Given the description of an element on the screen output the (x, y) to click on. 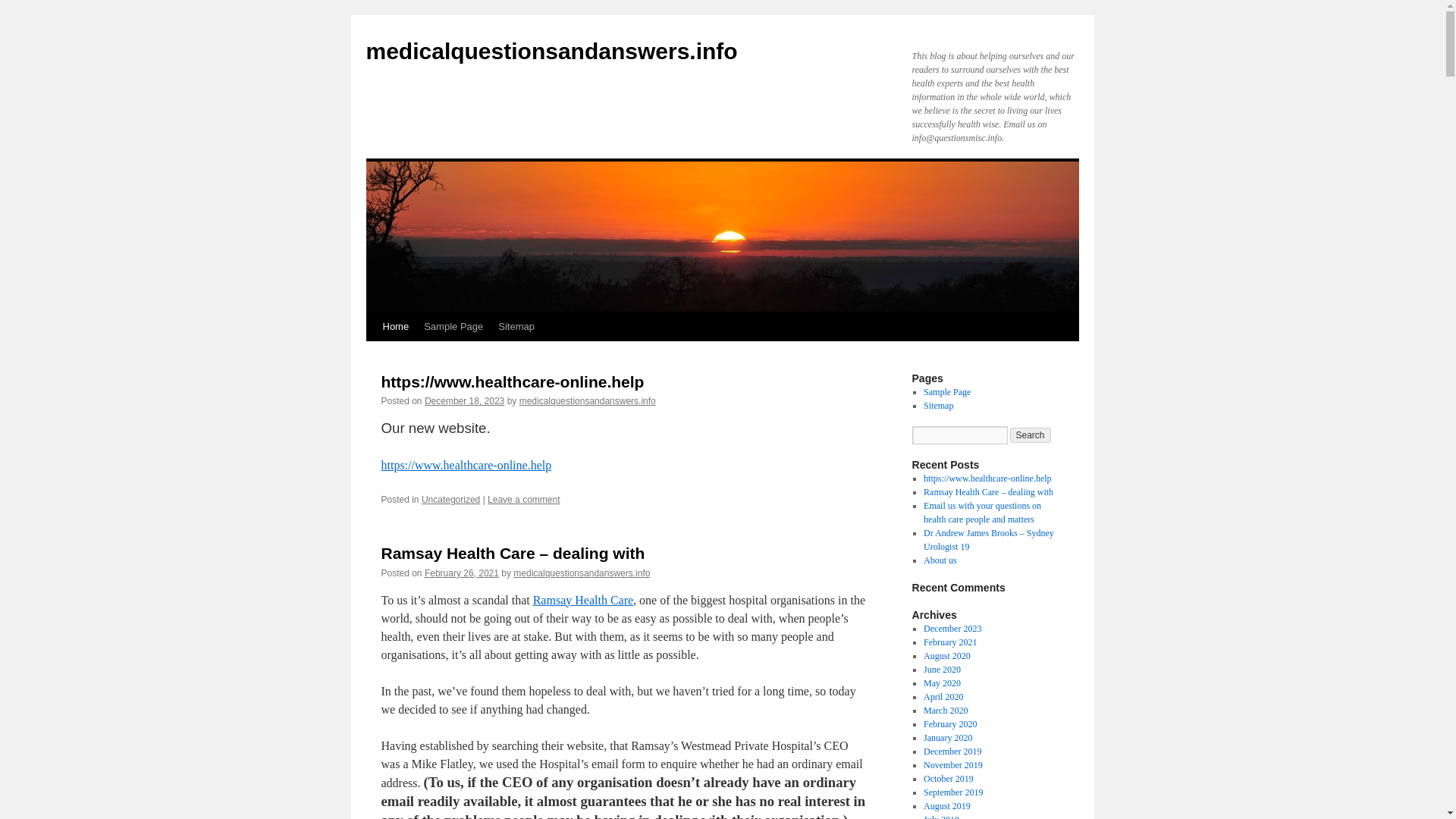
8:19 pm (462, 573)
2:11 pm (464, 400)
medicalquestionsandanswers.info (587, 400)
View all posts by medicalquestionsandanswers.info (587, 400)
Search (1030, 435)
Ramsay Health Care (582, 599)
Home (395, 326)
Leave a comment (523, 499)
medicalquestionsandanswers.info (550, 50)
Sitemap (515, 326)
